Given the description of an element on the screen output the (x, y) to click on. 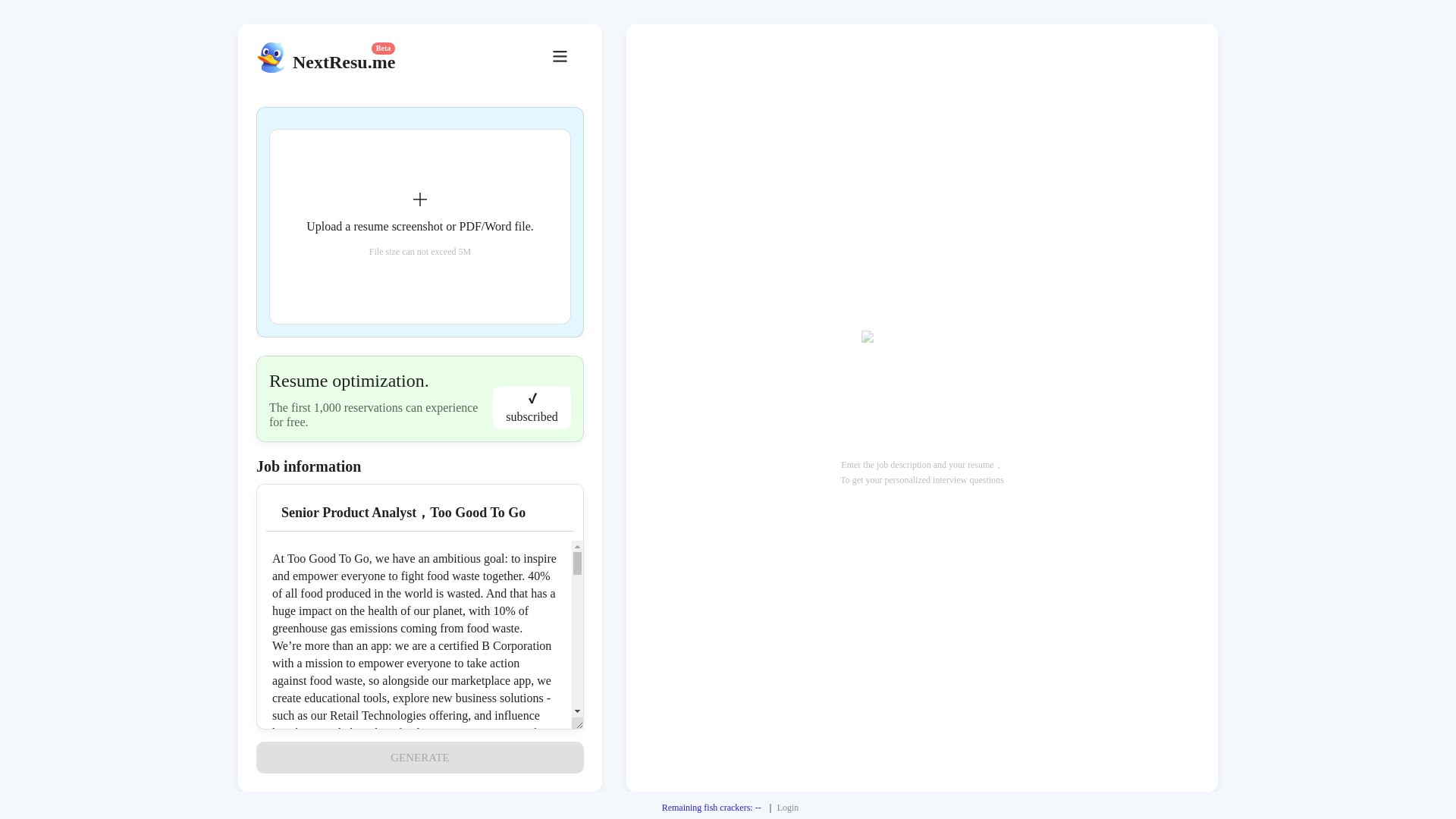
GENERATE (419, 757)
Remaining fish crackers: -- (711, 807)
Login (788, 807)
